Given the description of an element on the screen output the (x, y) to click on. 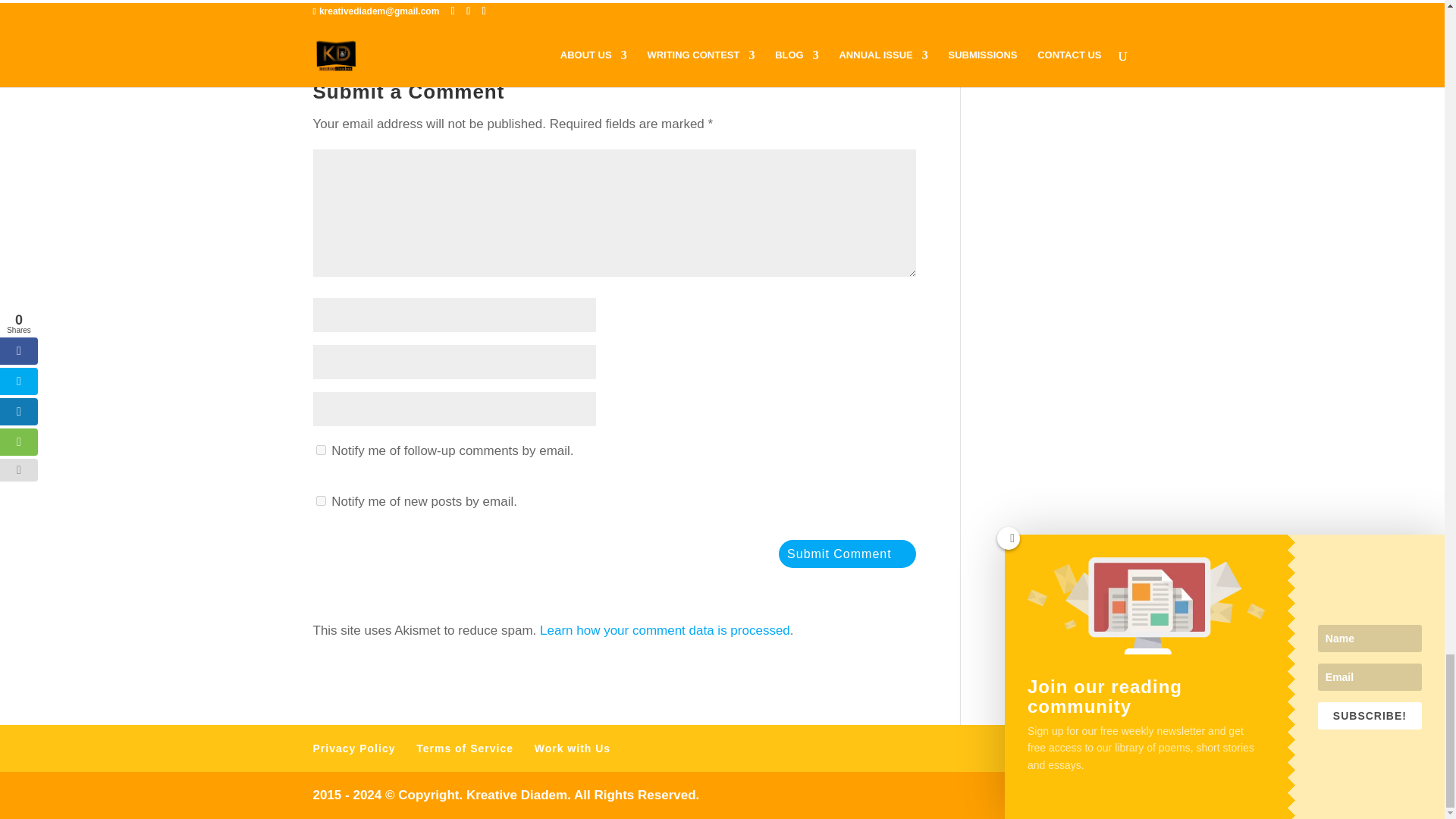
Submit Comment (846, 553)
subscribe (319, 501)
subscribe (319, 450)
